Given the description of an element on the screen output the (x, y) to click on. 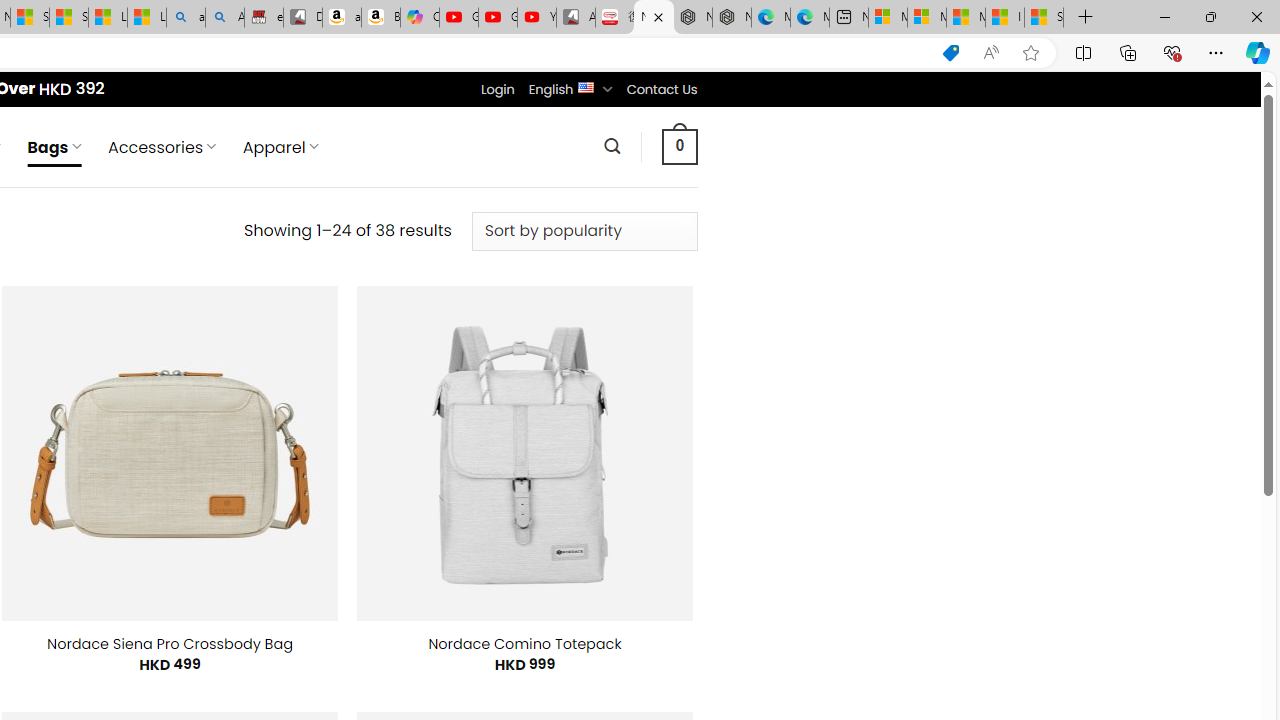
Nordace - Bags (653, 17)
 0  (679, 146)
Contact Us (661, 89)
